Given the description of an element on the screen output the (x, y) to click on. 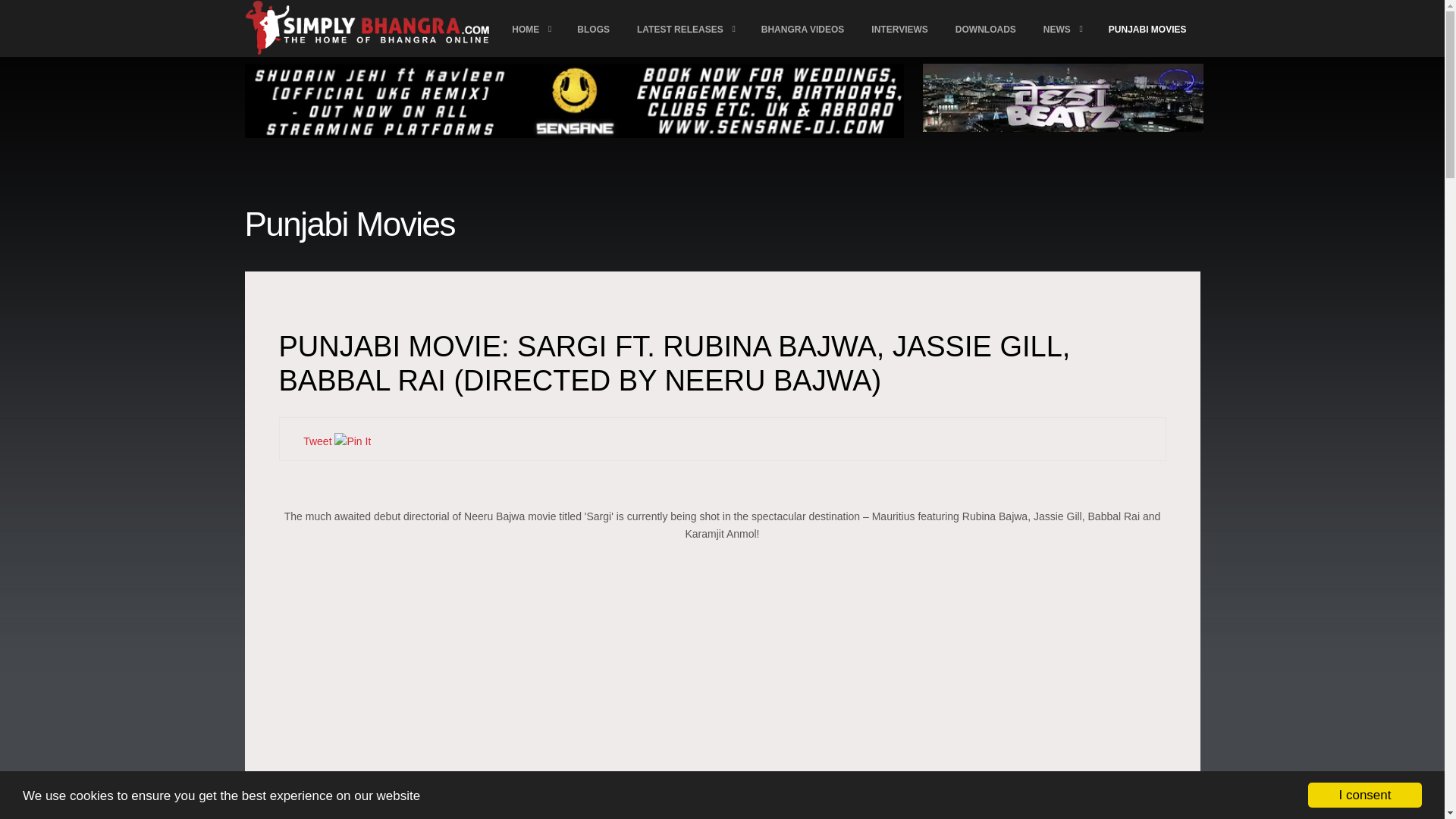
NEWS (1061, 29)
Pin It (352, 441)
INTERVIEWS (898, 29)
Simply Bhangra (1115, 803)
LATEST RELEASES (685, 29)
PUNJABI MOVIES (1146, 29)
DOWNLOADS (985, 29)
Tweet (316, 441)
BLOGS (593, 29)
BHANGRA VIDEOS (803, 29)
HOME (530, 29)
